Given the description of an element on the screen output the (x, y) to click on. 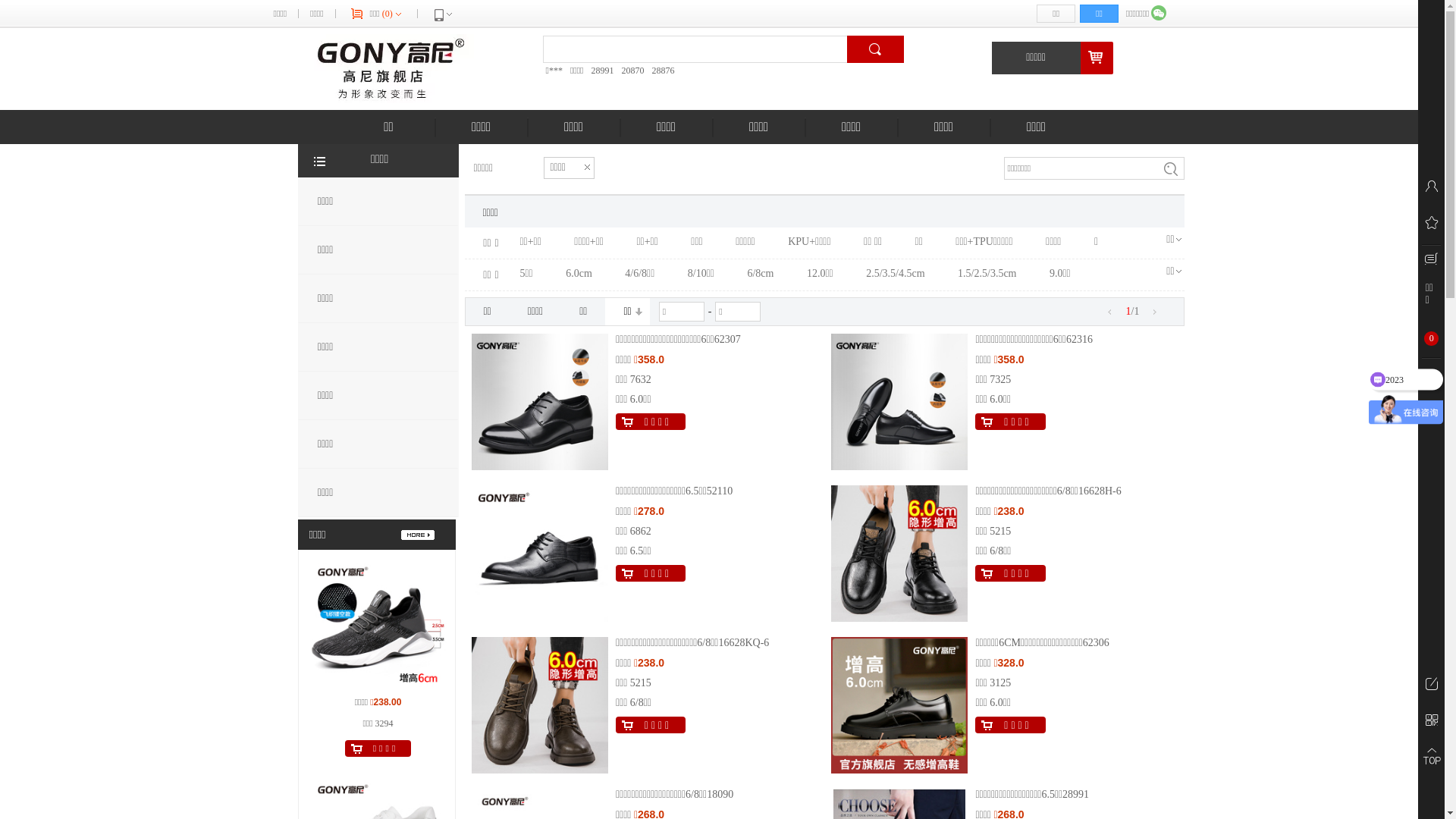
28876 Element type: text (662, 70)
6.0cm Element type: text (578, 273)
2.5/3.5/4.5cm Element type: text (895, 273)
1.5/2.5/3.5cm Element type: text (986, 273)
28991 Element type: text (601, 70)
20870 Element type: text (632, 70)
6/8cm Element type: text (759, 273)
